Given the description of an element on the screen output the (x, y) to click on. 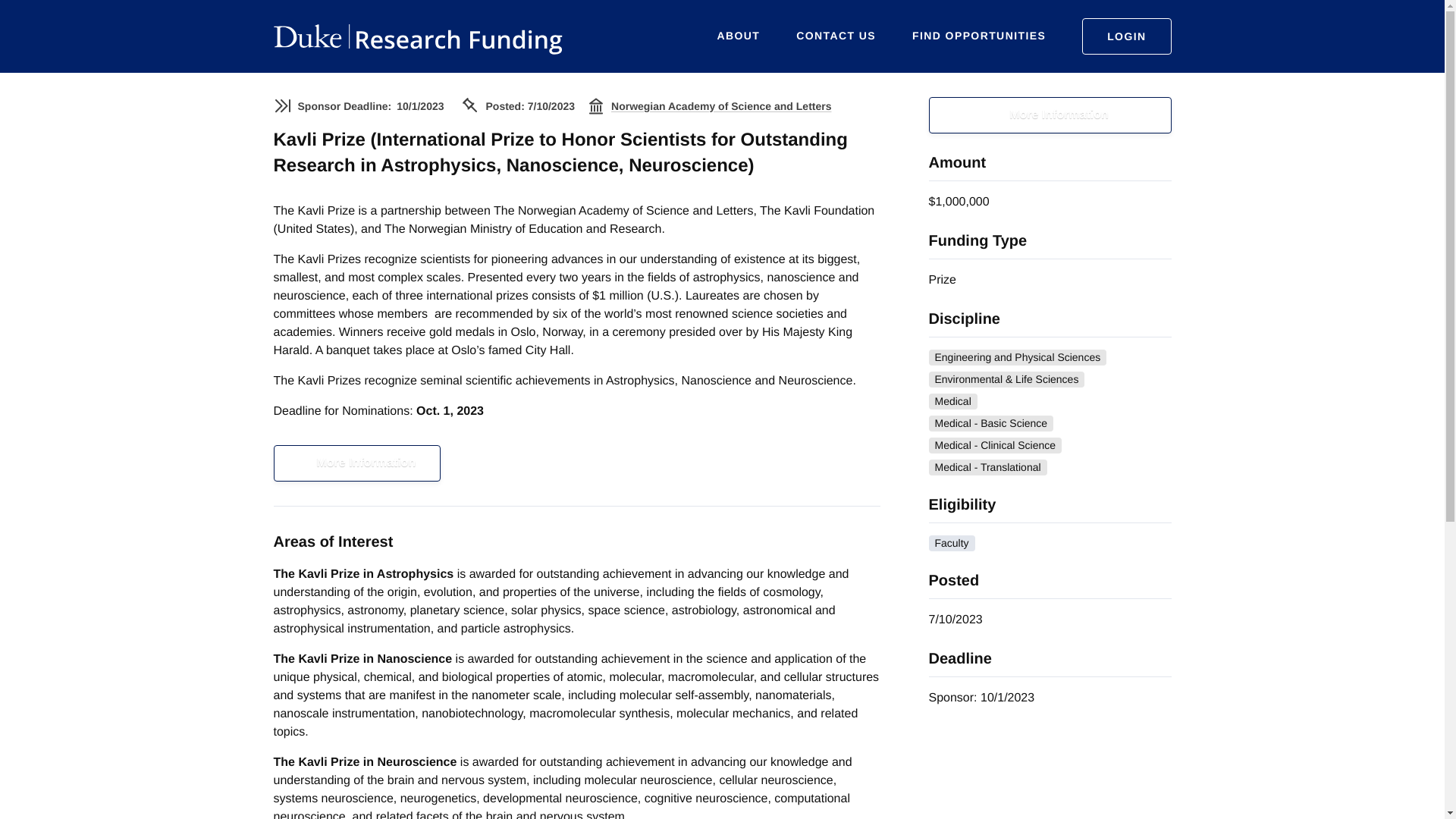
Norwegian Academy of Science and Letters (721, 106)
Faculty (951, 543)
Medical - Basic Science (990, 423)
FIND OPPORTUNITIES (978, 35)
Medical (952, 401)
Prize (941, 279)
ABOUT (738, 35)
Engineering and Physical Sciences (1017, 357)
CONTACT US (836, 35)
LOGIN (1125, 36)
More Information (1049, 115)
Medical - Translational (987, 467)
More Information (357, 463)
Medical - Clinical Science (994, 445)
